Given the description of an element on the screen output the (x, y) to click on. 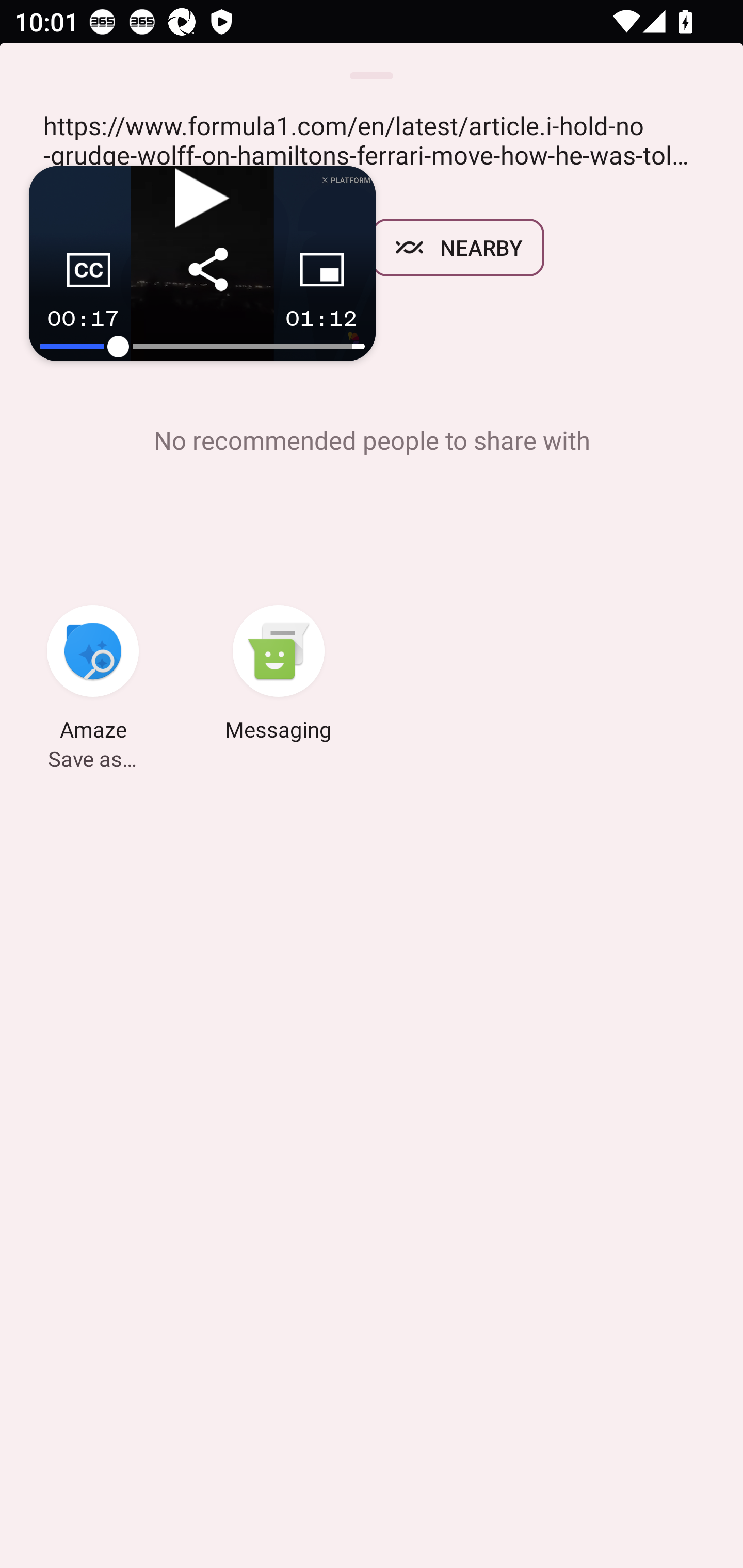
NEARBY (457, 247)
Amaze Save as… (92, 675)
Messaging (278, 675)
